Given the description of an element on the screen output the (x, y) to click on. 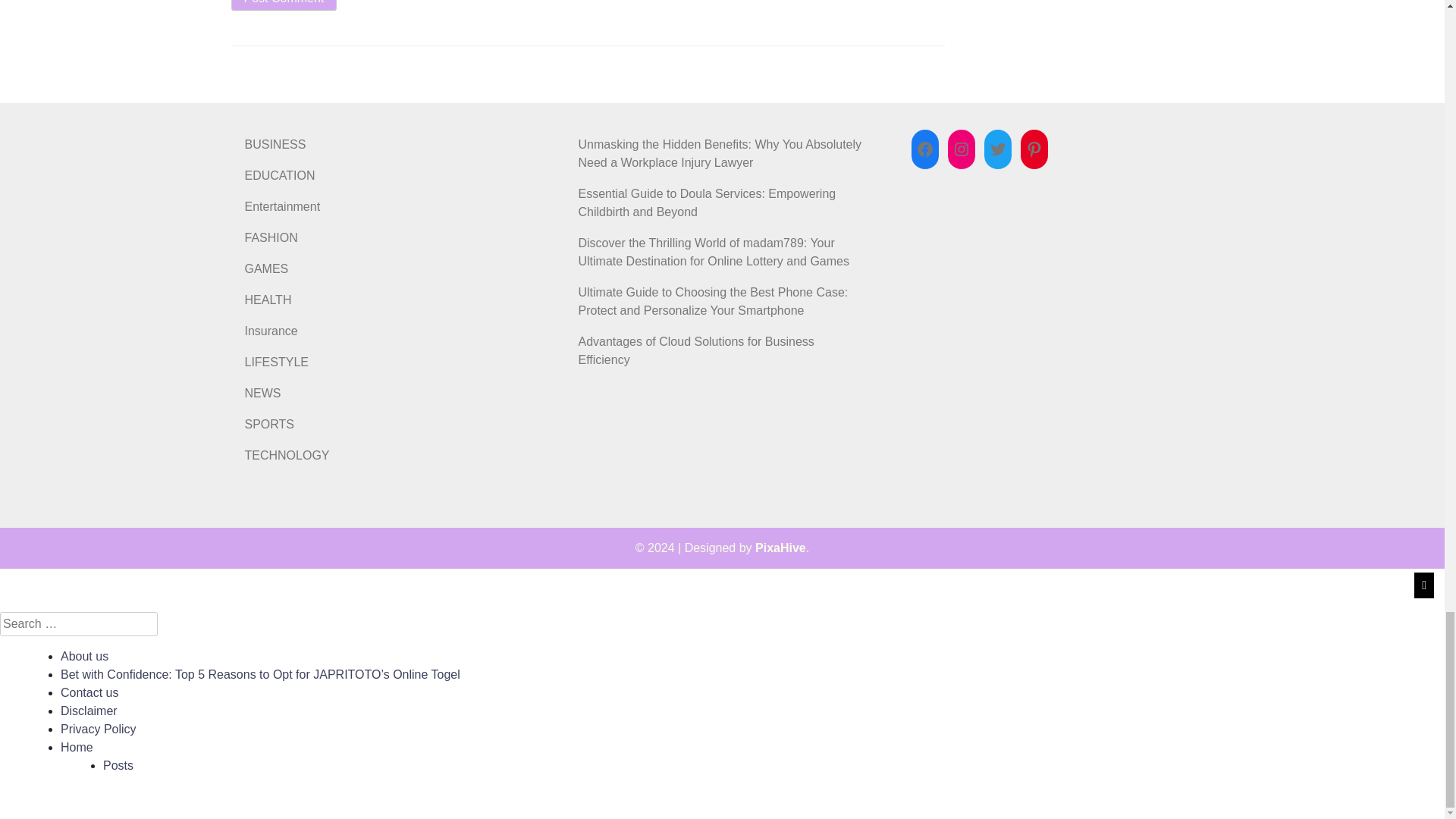
Post Comment (283, 5)
